Given the description of an element on the screen output the (x, y) to click on. 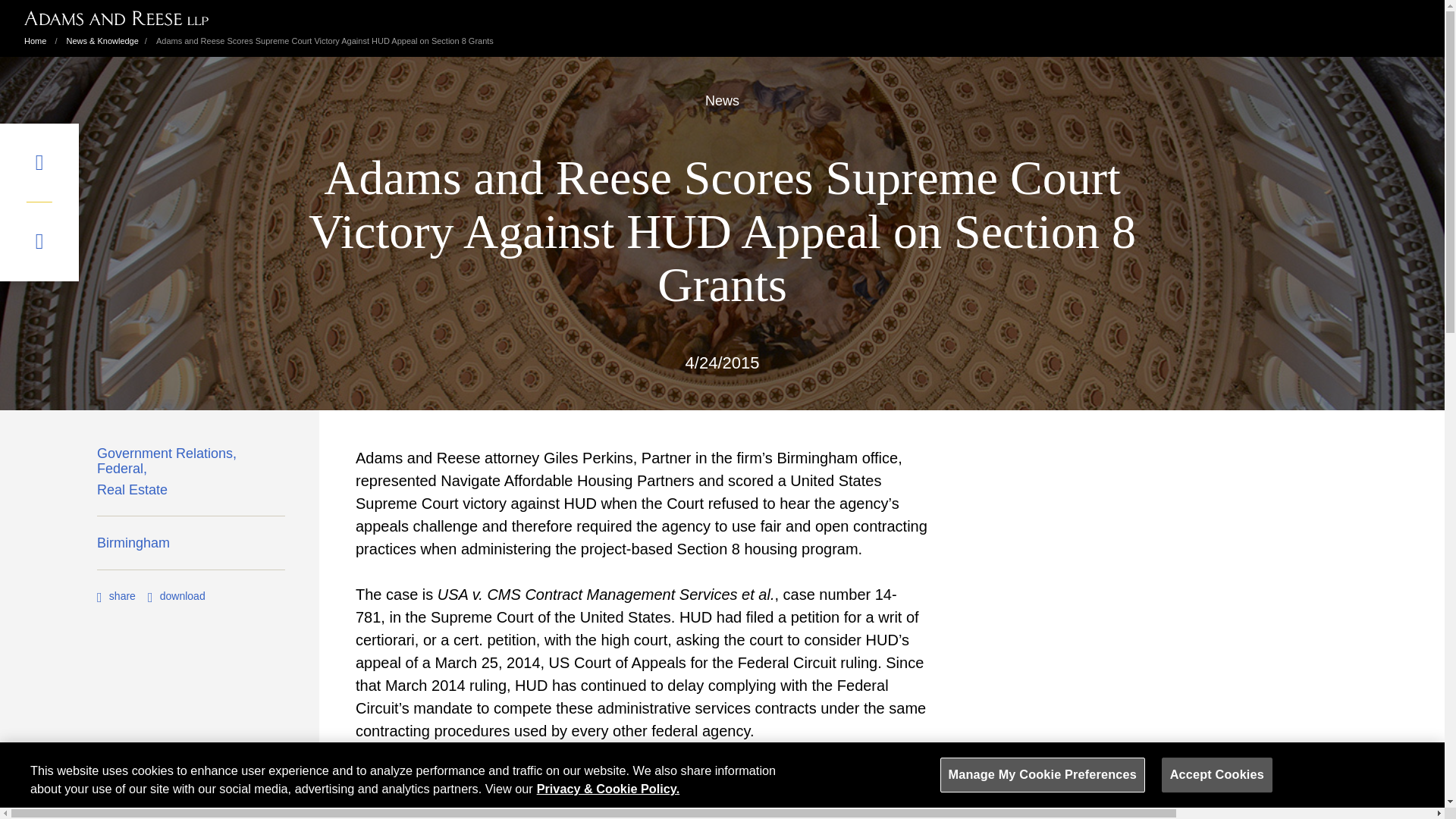
Accept Cookies (1216, 774)
menu (39, 161)
Real Estate (132, 493)
Government Relations, Federal (191, 464)
Home (35, 40)
search (39, 240)
Manage My Cookie Preferences (1042, 774)
download (176, 595)
Birmingham (133, 546)
